Given the description of an element on the screen output the (x, y) to click on. 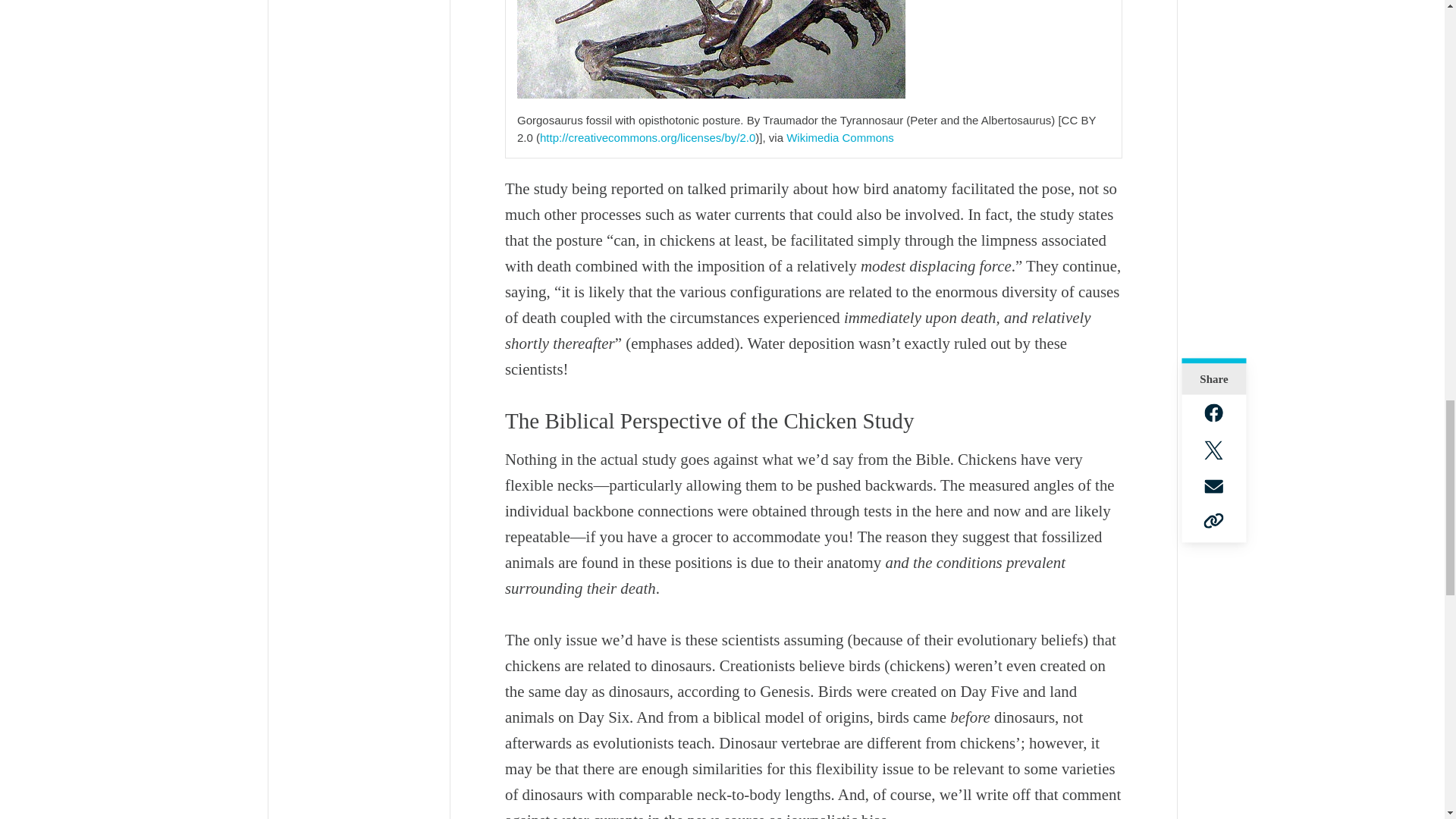
Wikimedia Commons (839, 137)
